Given the description of an element on the screen output the (x, y) to click on. 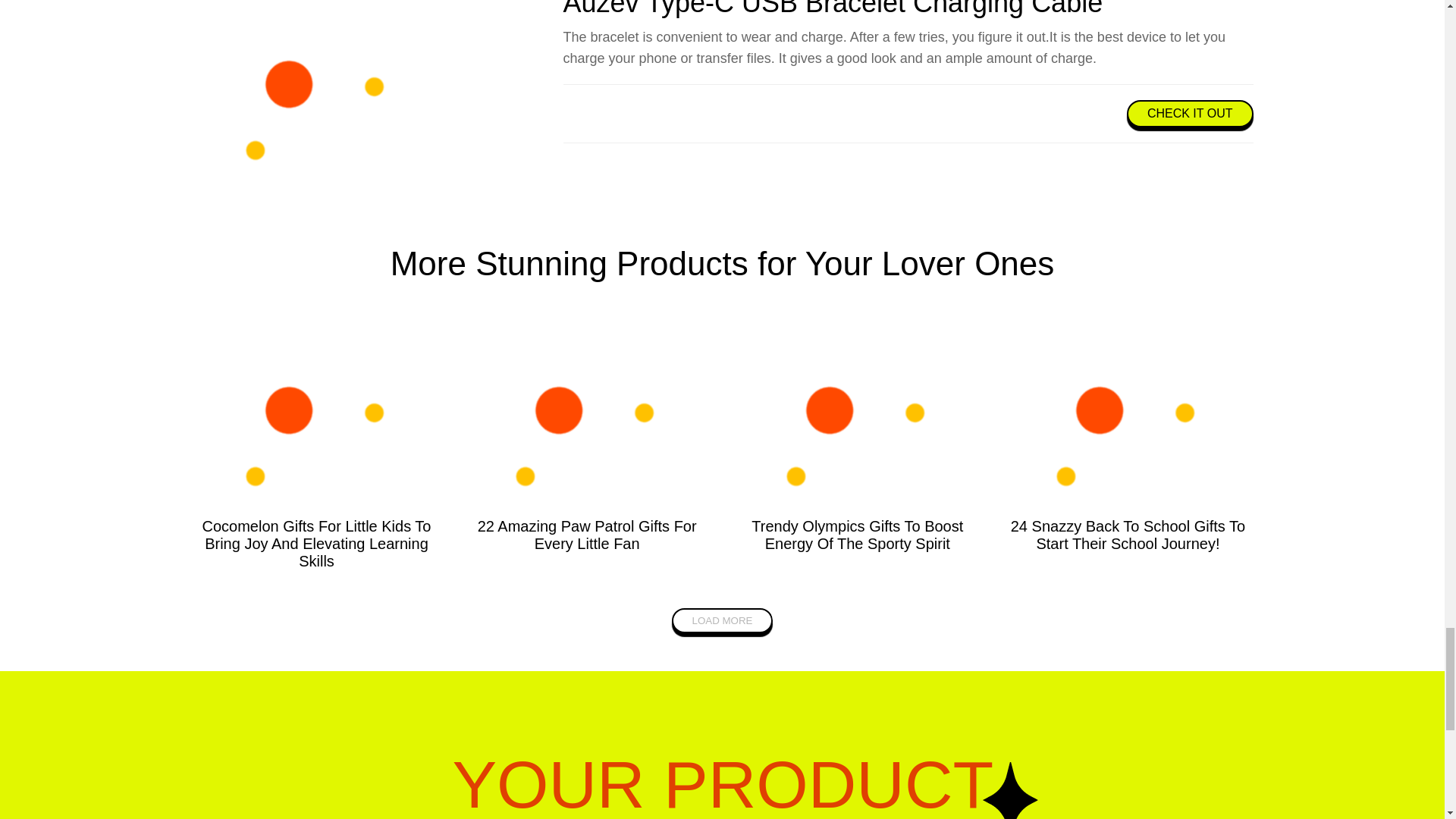
Auzev Type-C USB Bracelet Charging Cable (287, 90)
Trendy Olympics Gifts To Boost Energy Of The Sporty Spirit (856, 534)
Auzev Type-C USB Bracelet Charging Cable (832, 9)
22 Amazing Paw Patrol Gifts For Every Little Fan (587, 534)
LOAD MORE (722, 620)
